Given the description of an element on the screen output the (x, y) to click on. 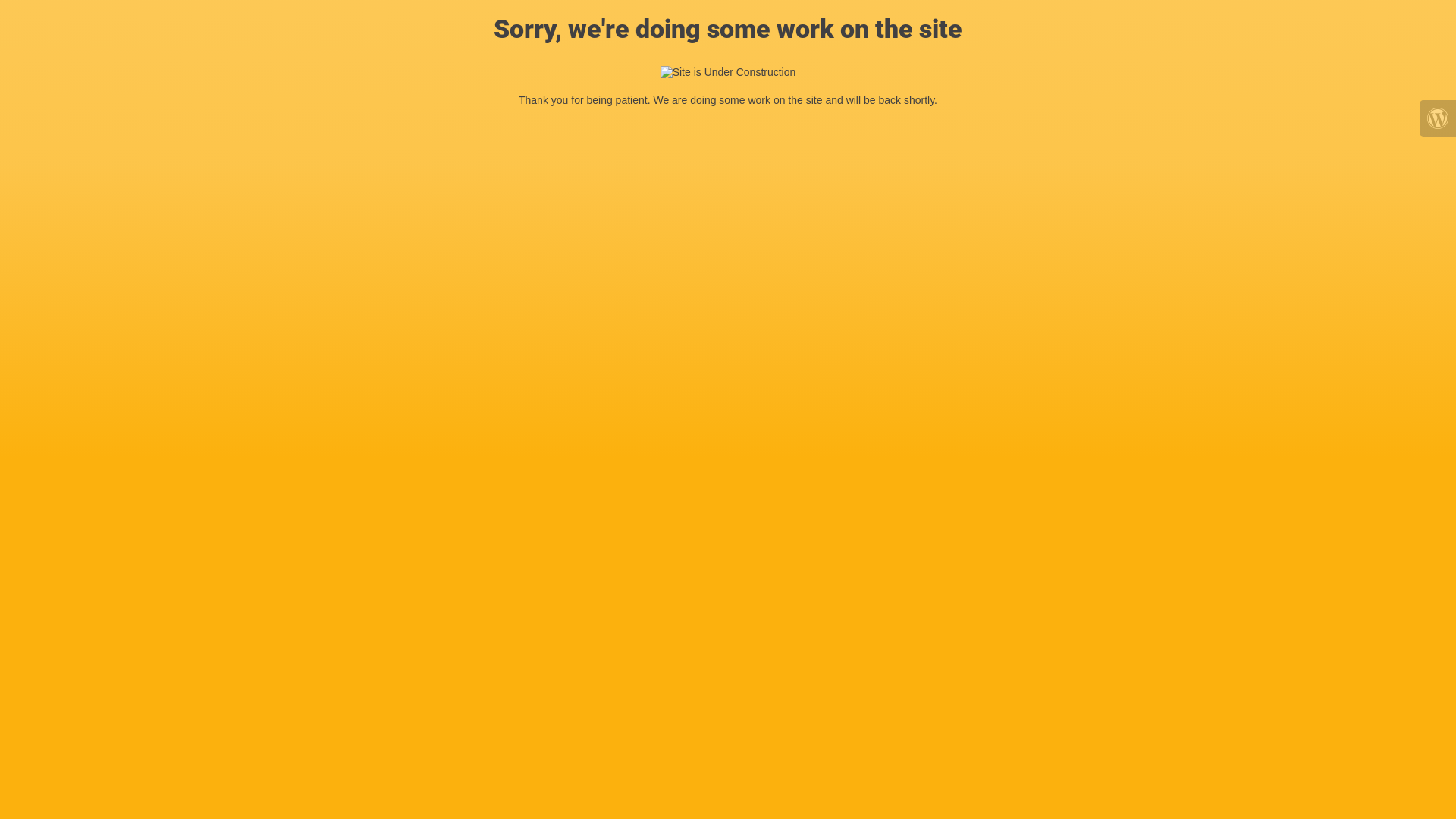
Site is Under Construction Element type: hover (728, 71)
